Given the description of an element on the screen output the (x, y) to click on. 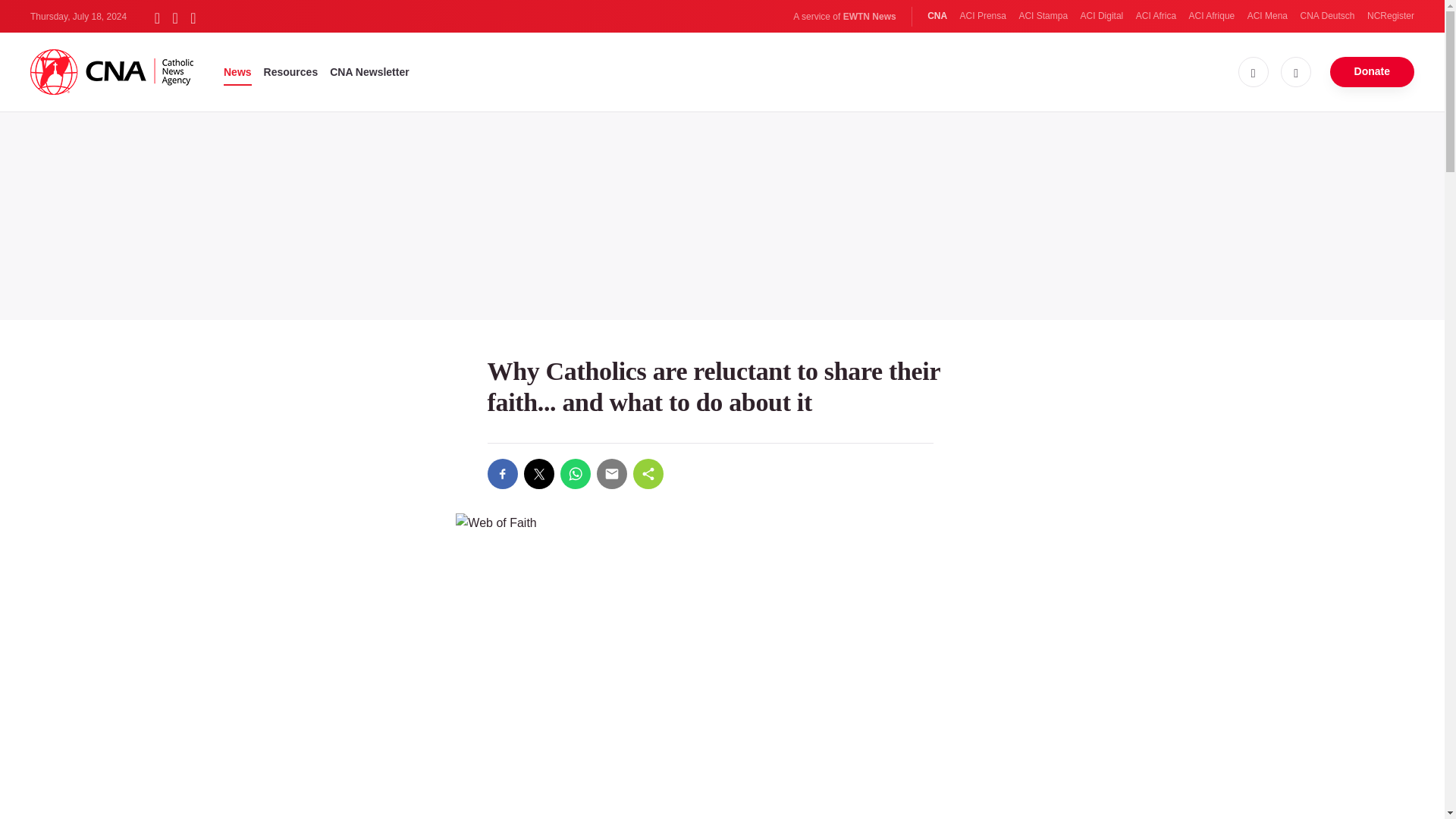
EWTN News (869, 16)
CNA (937, 16)
CNA Deutsch (1327, 16)
ACI Prensa (982, 16)
News (237, 71)
ACI Afrique (1211, 16)
EWTN News (869, 16)
Resources (290, 71)
ACI Africa (1155, 16)
NCRegister (1390, 16)
ACI Stampa (1042, 16)
ACI Digital (1102, 16)
ACI Mena (1267, 16)
